Given the description of an element on the screen output the (x, y) to click on. 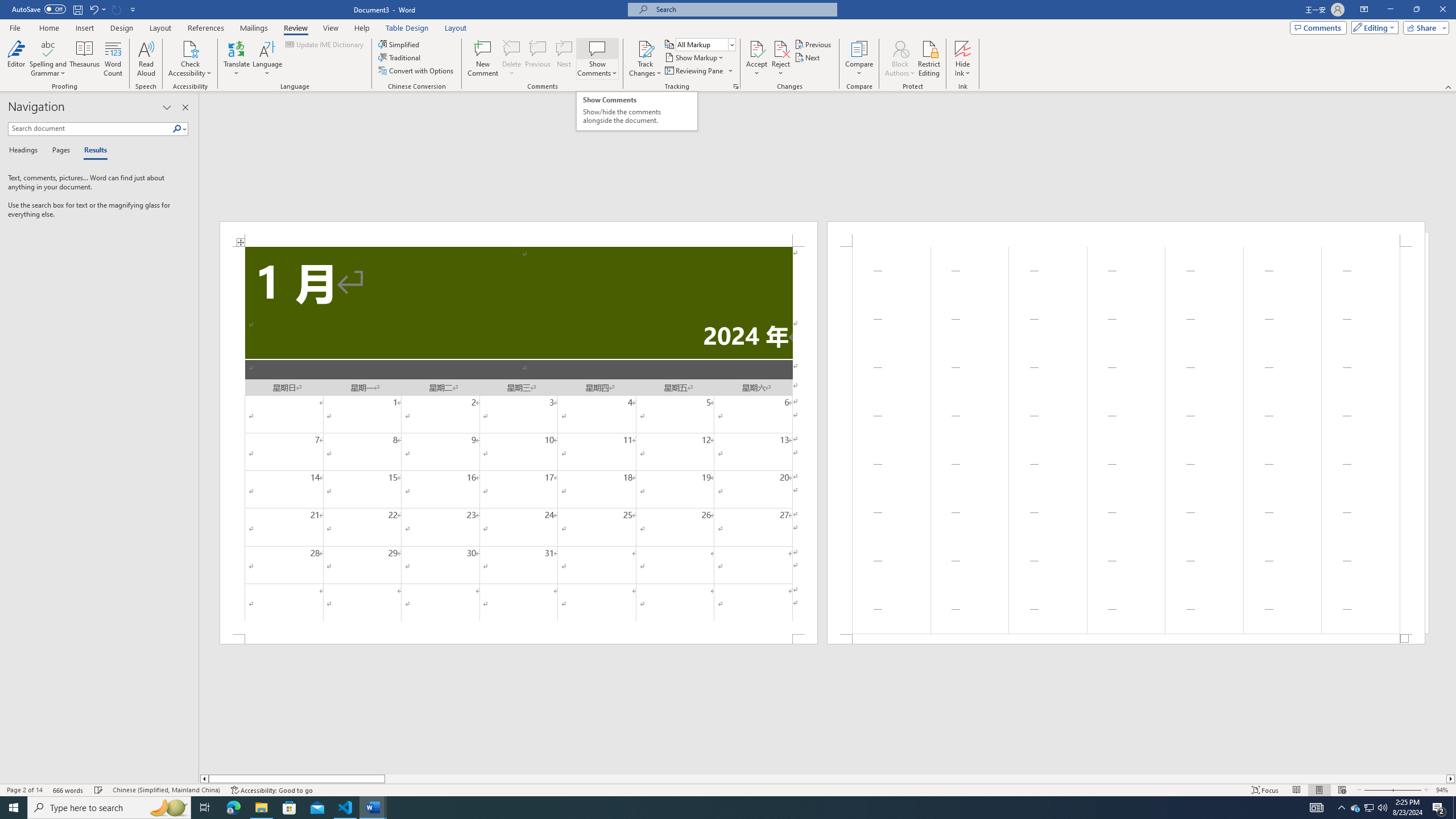
Column left (203, 778)
Spelling and Grammar (48, 58)
Reject (780, 58)
Compare (859, 58)
Next (808, 56)
Convert with Options... (417, 69)
Translate (236, 58)
Read Aloud (145, 58)
Track Changes (644, 58)
